Given the description of an element on the screen output the (x, y) to click on. 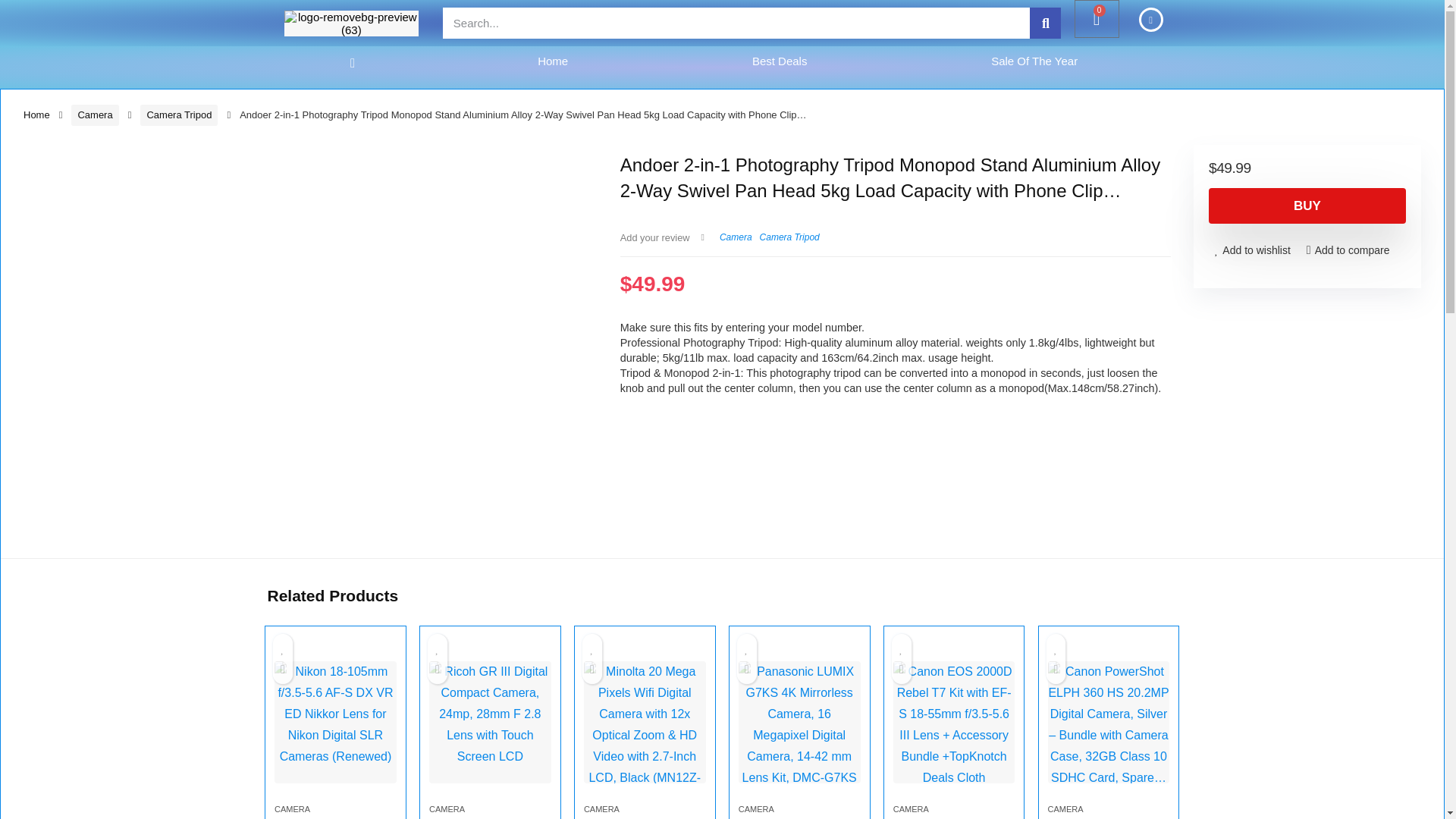
View all posts in Camera Tripod (789, 236)
View all posts in Camera (735, 236)
Home (553, 61)
Add your review (655, 237)
Sale Of The Year (1034, 61)
0 (1096, 18)
Best Deals (780, 61)
